Given the description of an element on the screen output the (x, y) to click on. 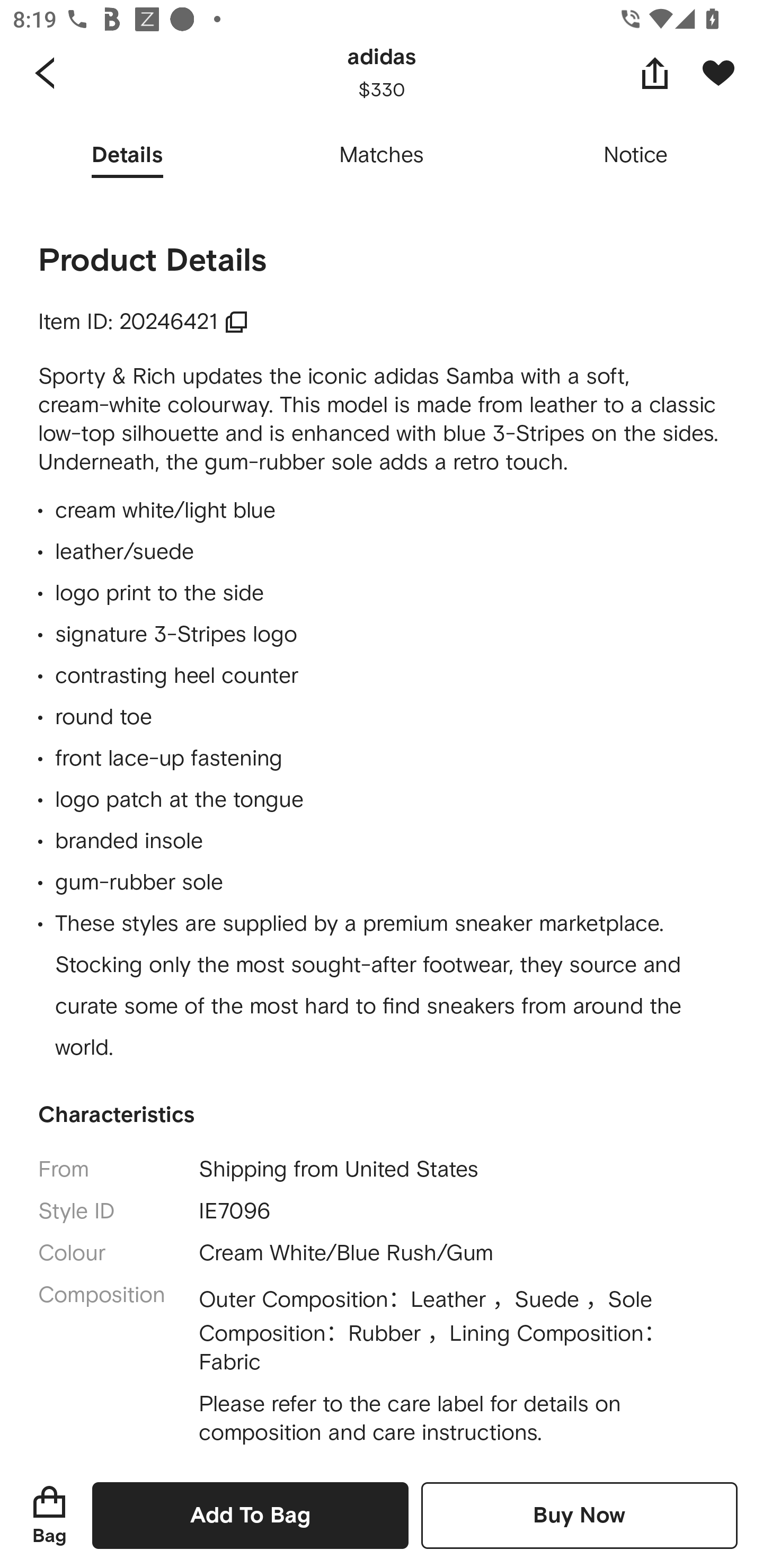
Select 12 size(s) available (349, 78)
Matches (381, 155)
Notice (635, 155)
Item ID: 20246421 (143, 322)
Bag (49, 1515)
Add To Bag (250, 1515)
Buy Now (579, 1515)
